Given the description of an element on the screen output the (x, y) to click on. 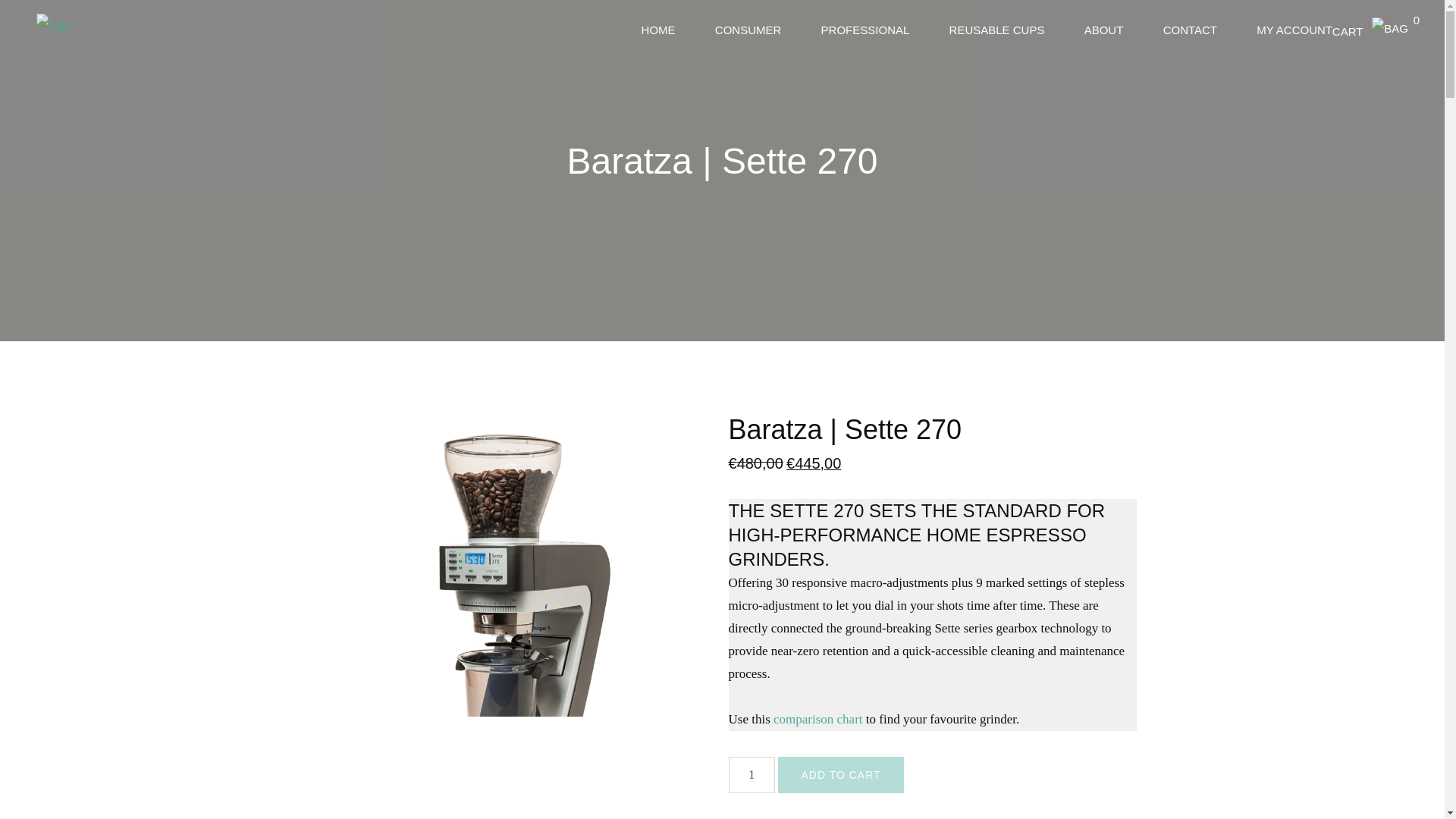
comparison chart (818, 718)
MY ACCOUNT (1294, 29)
1 (1369, 31)
CONTACT (751, 774)
PROFESSIONAL (1190, 29)
REUSABLE CUPS (865, 29)
ABOUT (997, 29)
HOME (1104, 29)
CONSUMER (658, 29)
